Given the description of an element on the screen output the (x, y) to click on. 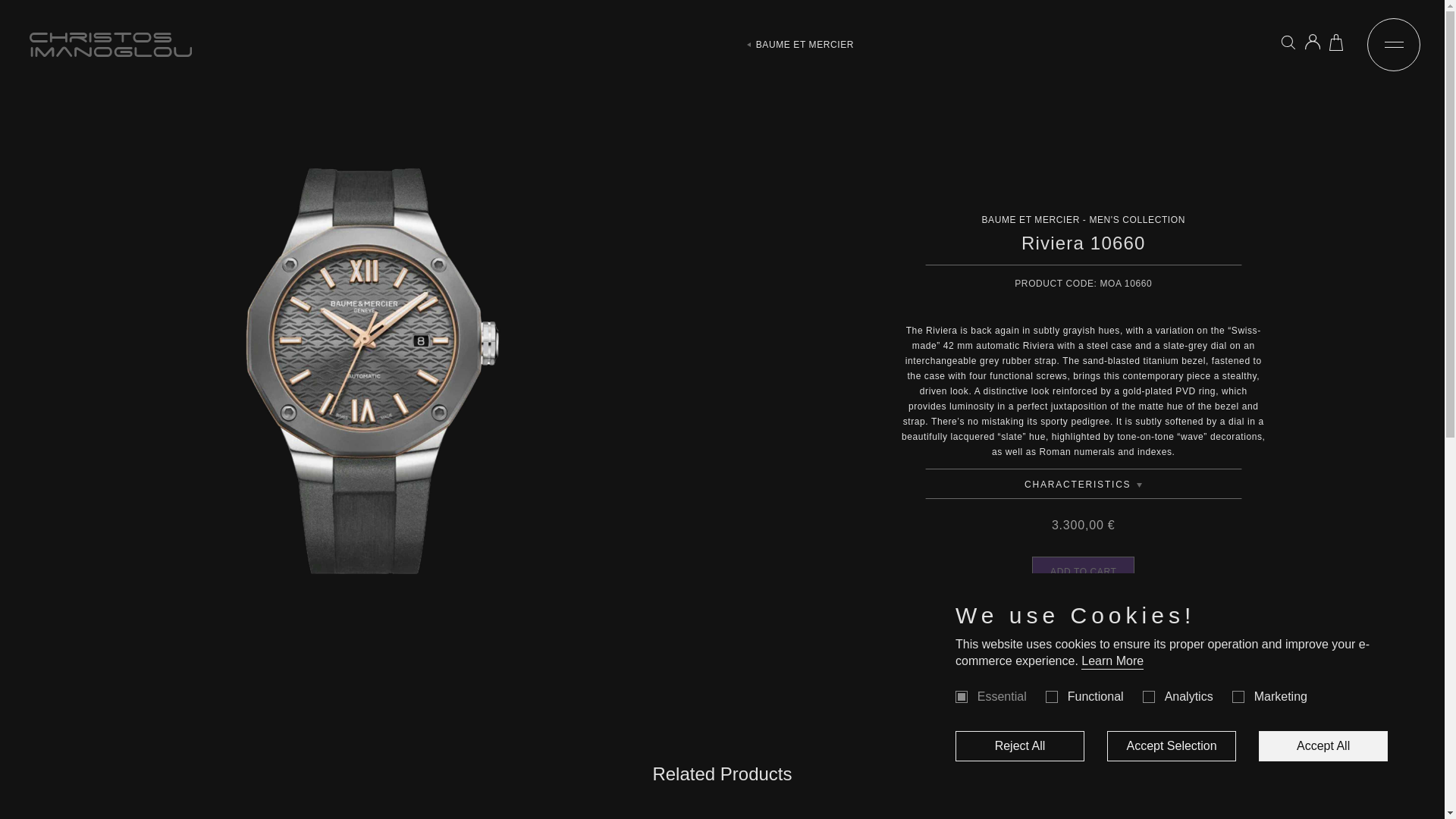
Necessary (961, 696)
Marketing (1237, 696)
Preferences (1051, 696)
Analytics (1148, 696)
